Given the description of an element on the screen output the (x, y) to click on. 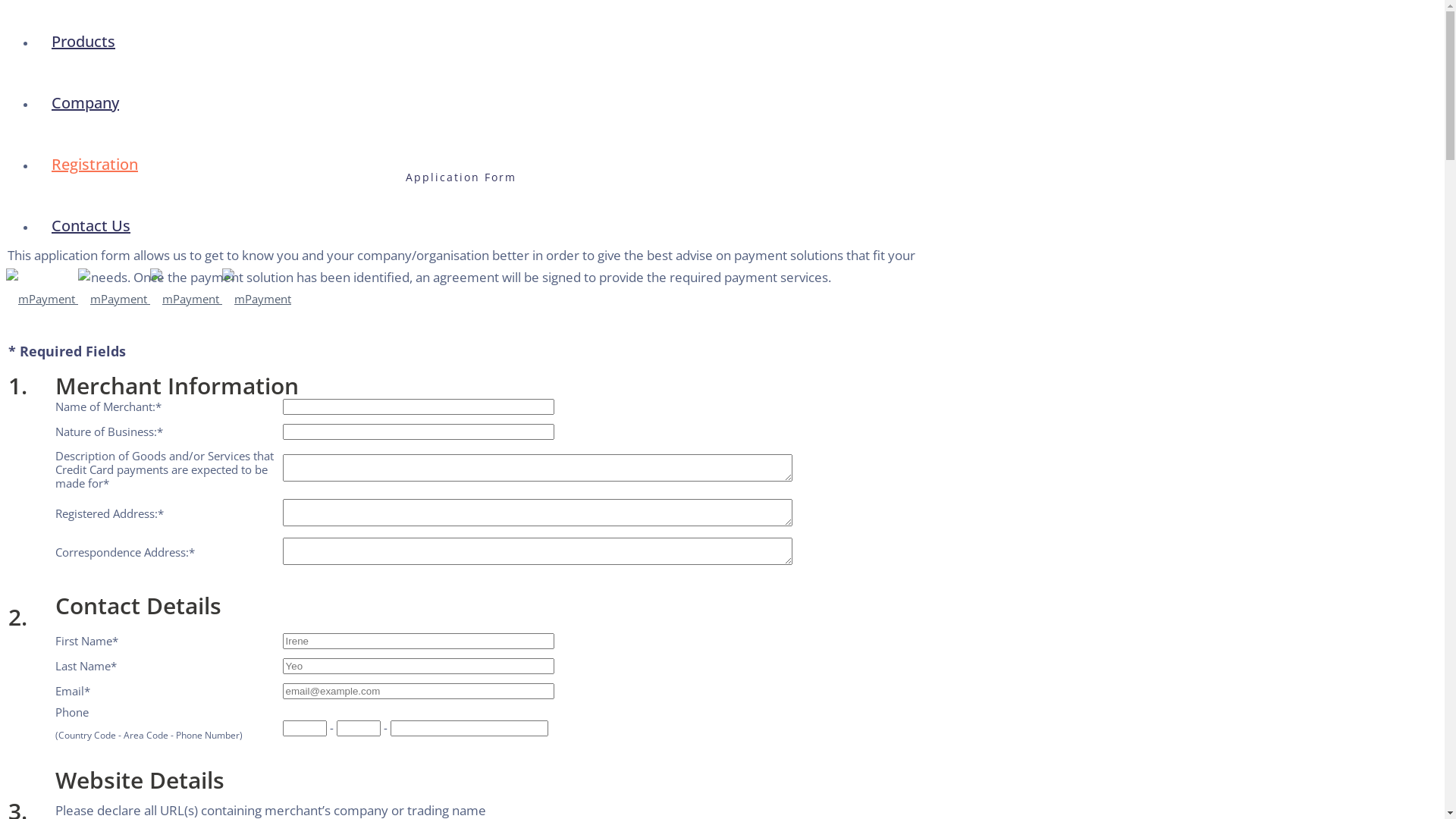
Products Element type: text (83, 41)
Registration Element type: text (94, 163)
Company Element type: text (85, 102)
mPayment Element type: hover (148, 298)
Contact Us Element type: text (90, 225)
